Given the description of an element on the screen output the (x, y) to click on. 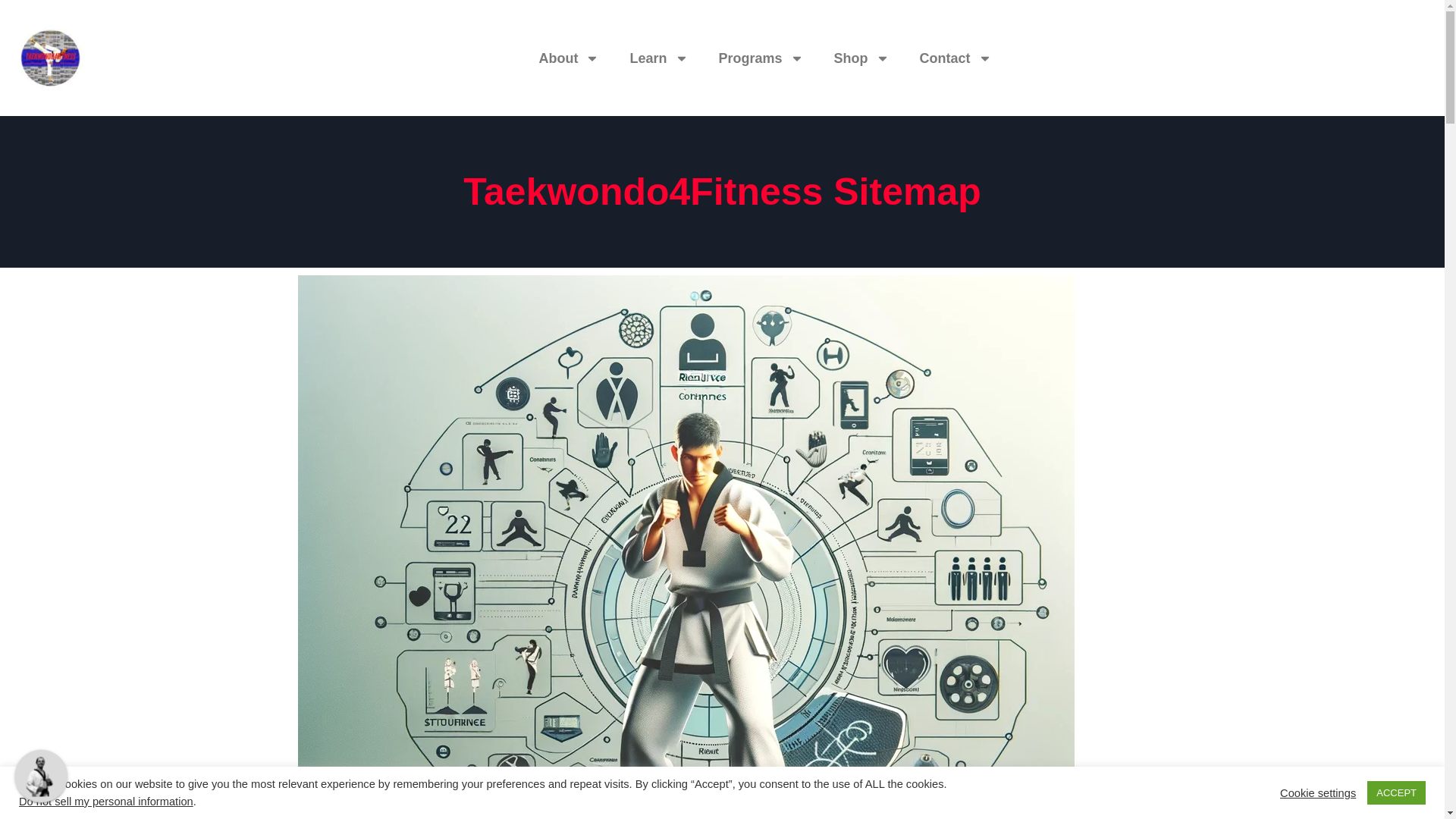
Learn (658, 58)
About (568, 58)
